Given the description of an element on the screen output the (x, y) to click on. 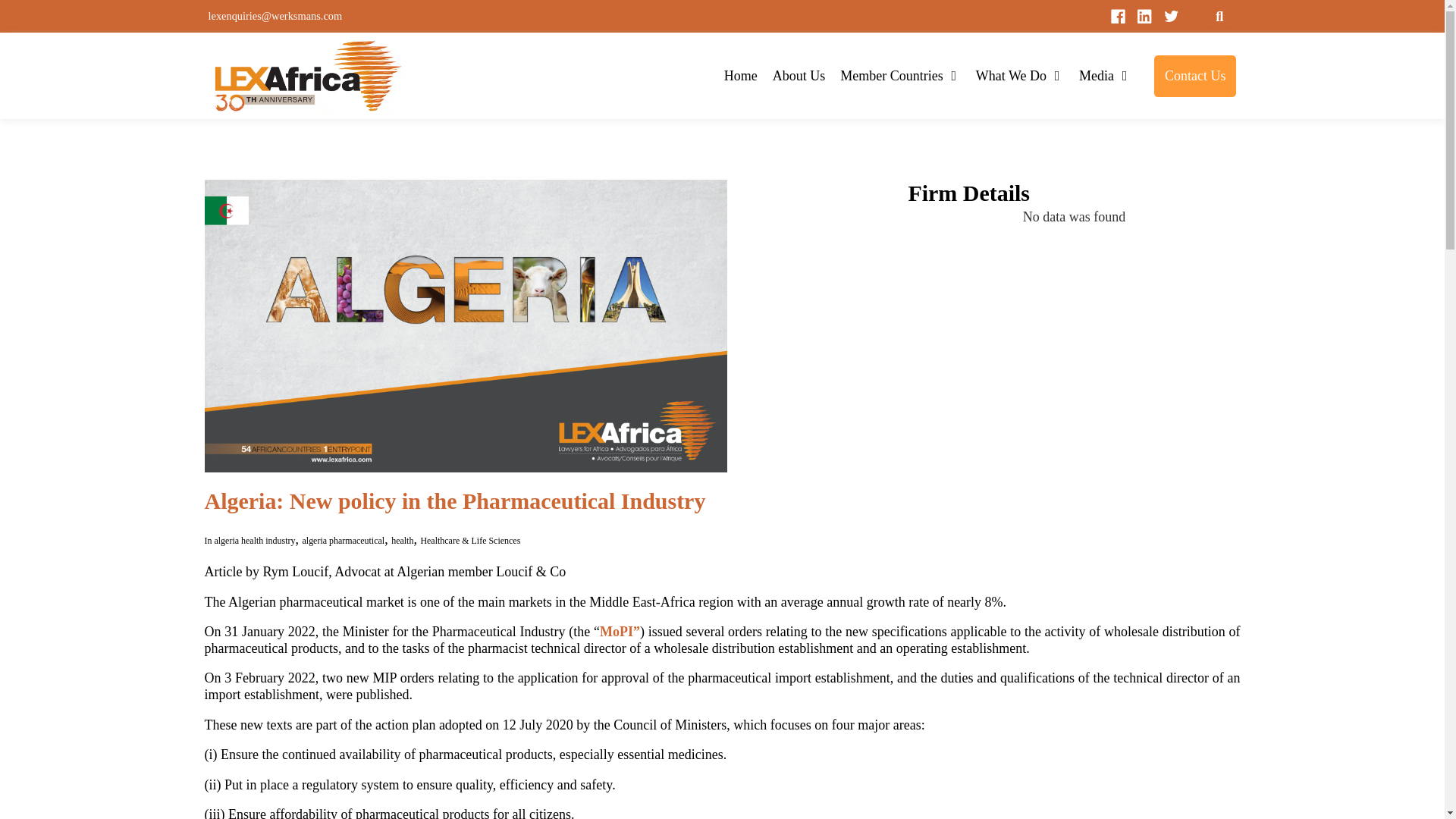
What We Do (1010, 76)
About Us (799, 76)
Home (740, 76)
Member Countries (891, 76)
